Given the description of an element on the screen output the (x, y) to click on. 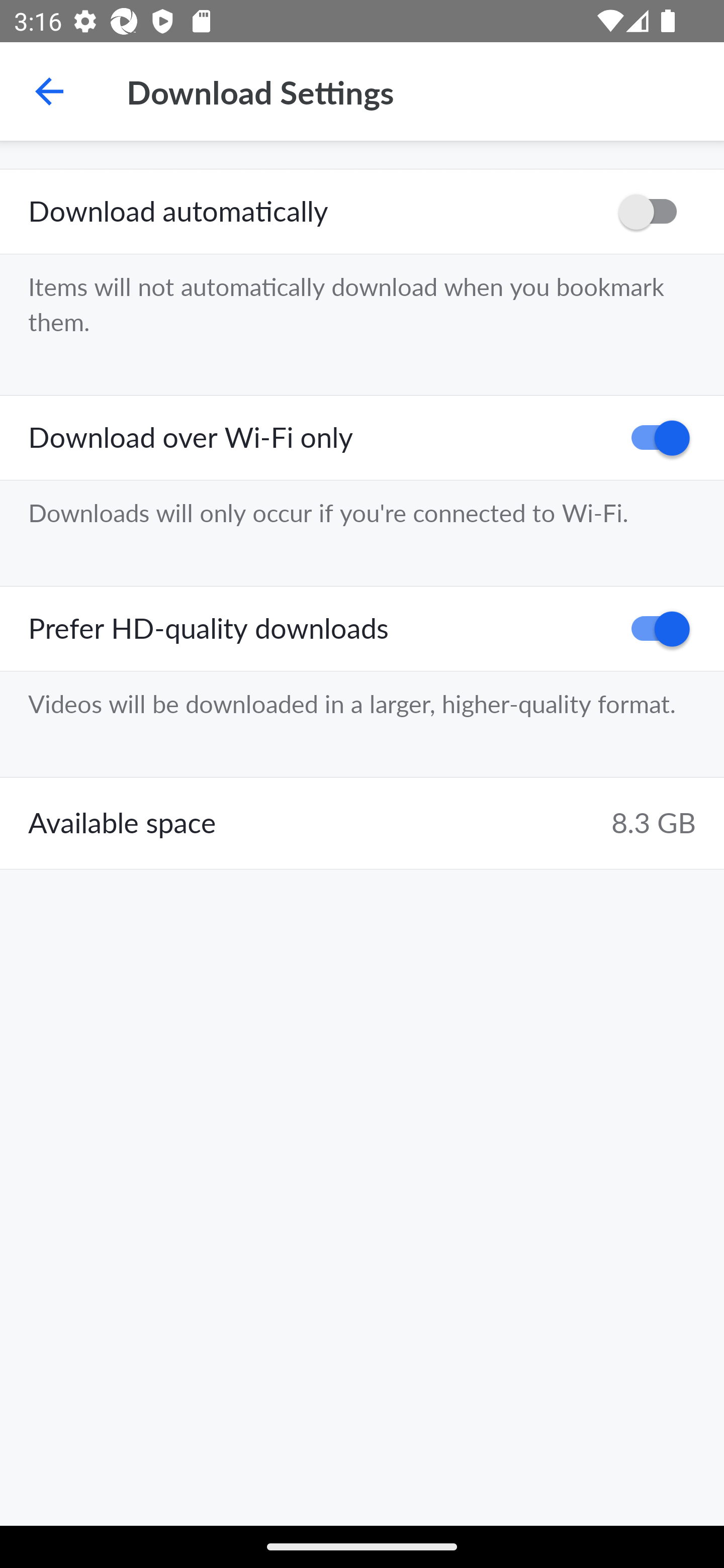
Navigate up (49, 91)
OFF (653, 211)
ON (653, 437)
ON (653, 628)
